Given the description of an element on the screen output the (x, y) to click on. 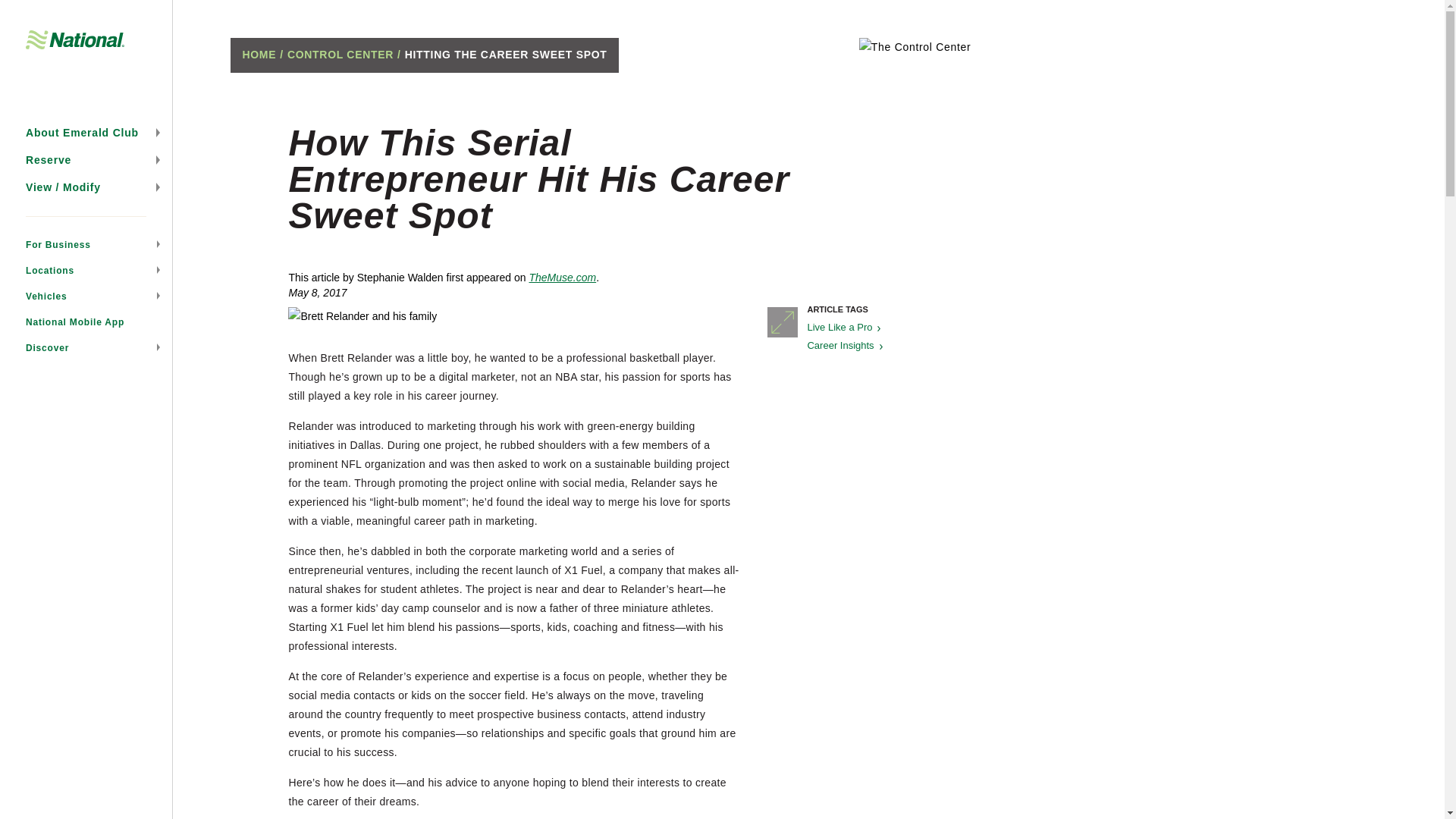
Vehicles (85, 296)
About Emerald Club (85, 132)
Reserve (85, 159)
For Business (85, 244)
Locations (85, 270)
